Given the description of an element on the screen output the (x, y) to click on. 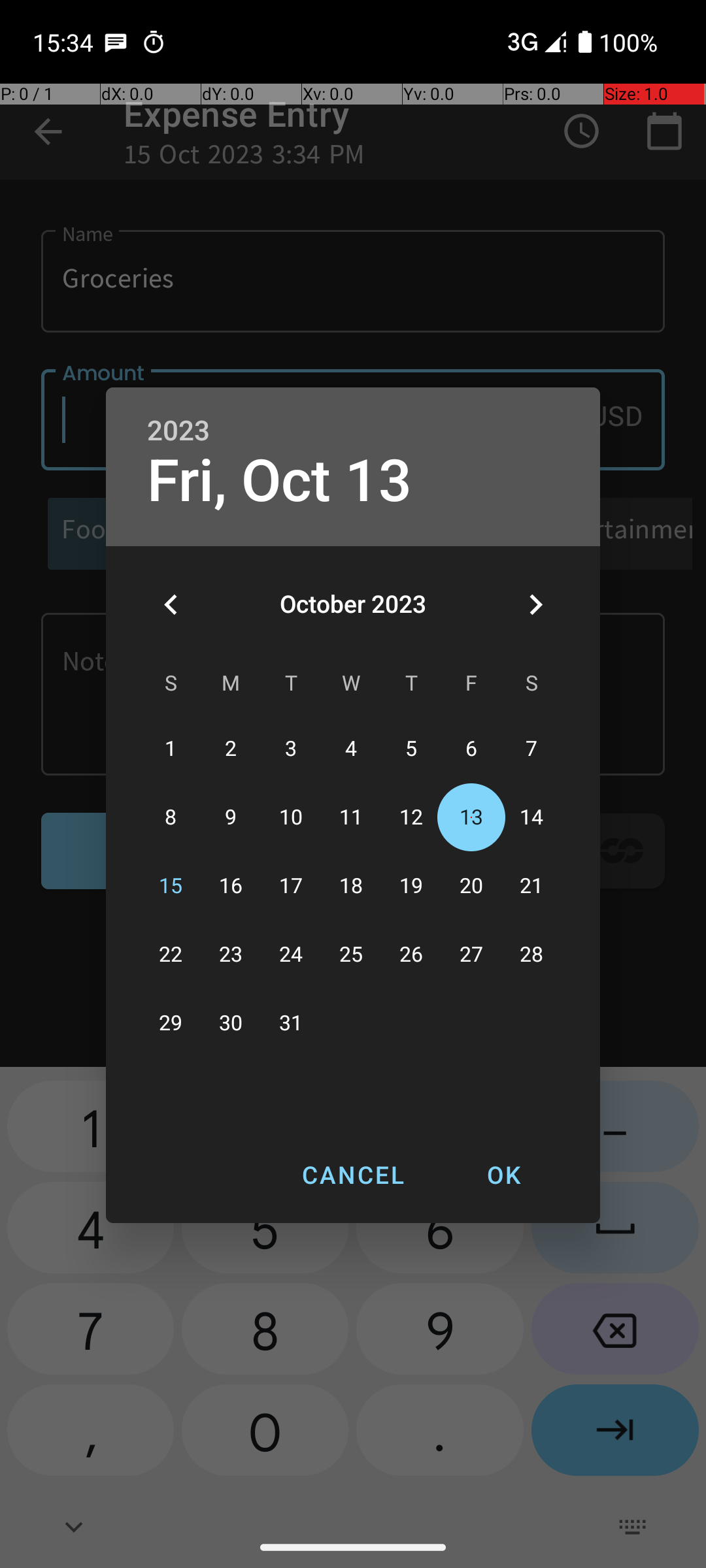
2023 Element type: android.widget.TextView (178, 430)
Fri, Oct 13 Element type: android.widget.TextView (279, 480)
Previous month Element type: android.widget.ImageButton (170, 604)
Next month Element type: android.widget.ImageButton (535, 604)
CANCEL Element type: android.widget.Button (352, 1174)
13 Element type: android.view.View (471, 817)
14 Element type: android.view.View (531, 817)
16 Element type: android.view.View (230, 885)
17 Element type: android.view.View (290, 885)
18 Element type: android.view.View (350, 885)
19 Element type: android.view.View (411, 885)
21 Element type: android.view.View (531, 885)
22 Element type: android.view.View (170, 954)
23 Element type: android.view.View (230, 954)
24 Element type: android.view.View (290, 954)
26 Element type: android.view.View (411, 954)
27 Element type: android.view.View (471, 954)
28 Element type: android.view.View (531, 954)
29 Element type: android.view.View (170, 1023)
31 Element type: android.view.View (290, 1023)
